Given the description of an element on the screen output the (x, y) to click on. 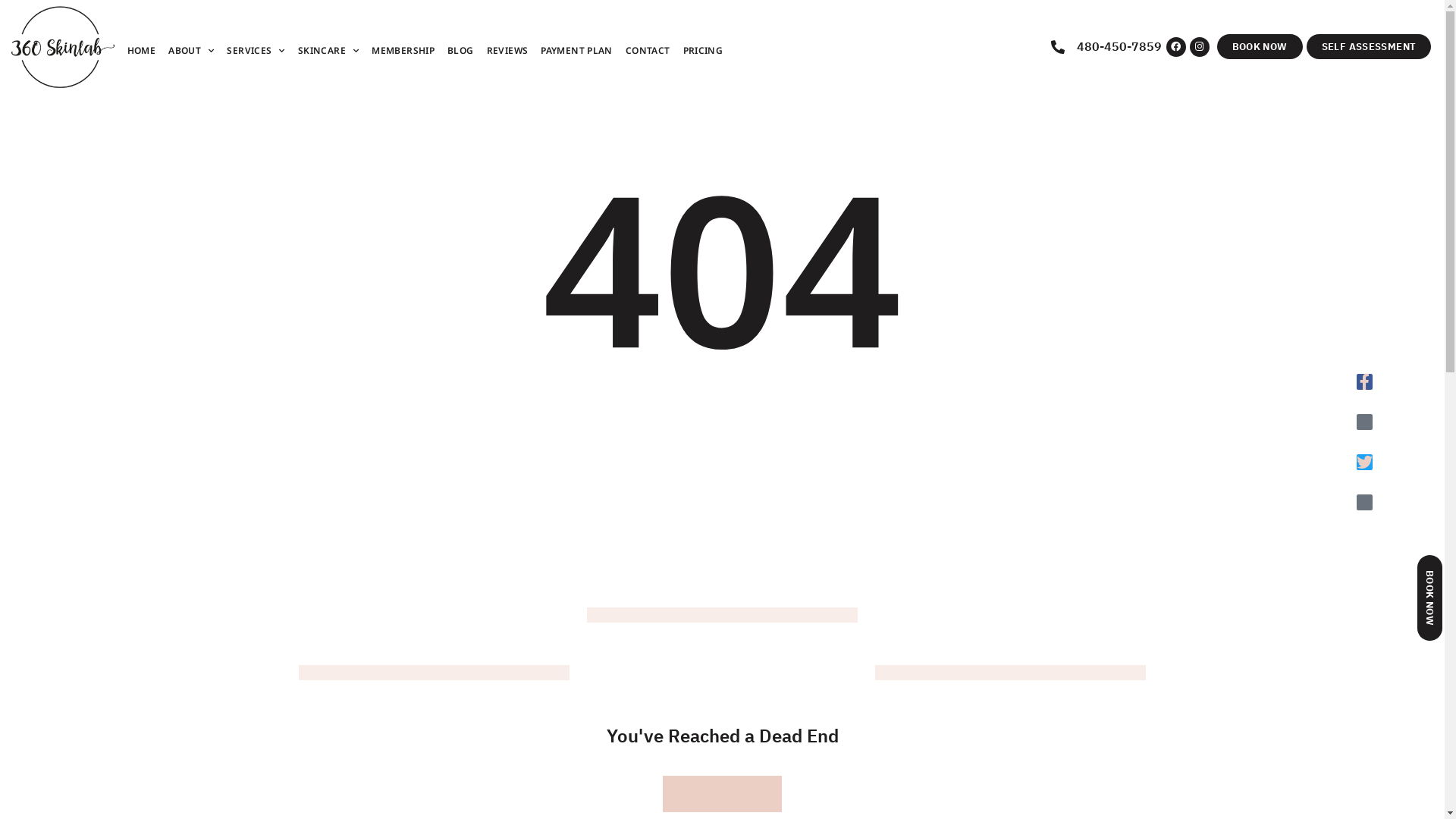
SELF ASSESSMENT Element type: text (1368, 46)
ABOUT Element type: text (190, 50)
PAYMENT PLAN Element type: text (576, 50)
HOME Element type: text (141, 50)
REVIEWS Element type: text (507, 50)
SKINCARE Element type: text (328, 50)
BLOG Element type: text (460, 50)
Go Back Element type: text (722, 793)
PRICING Element type: text (703, 50)
MEMBERSHIP Element type: text (402, 50)
CONTACT Element type: text (647, 50)
SERVICES Element type: text (255, 50)
BOOK NOW Element type: text (1259, 46)
480-450-7859 Element type: text (1108, 46)
